Given the description of an element on the screen output the (x, y) to click on. 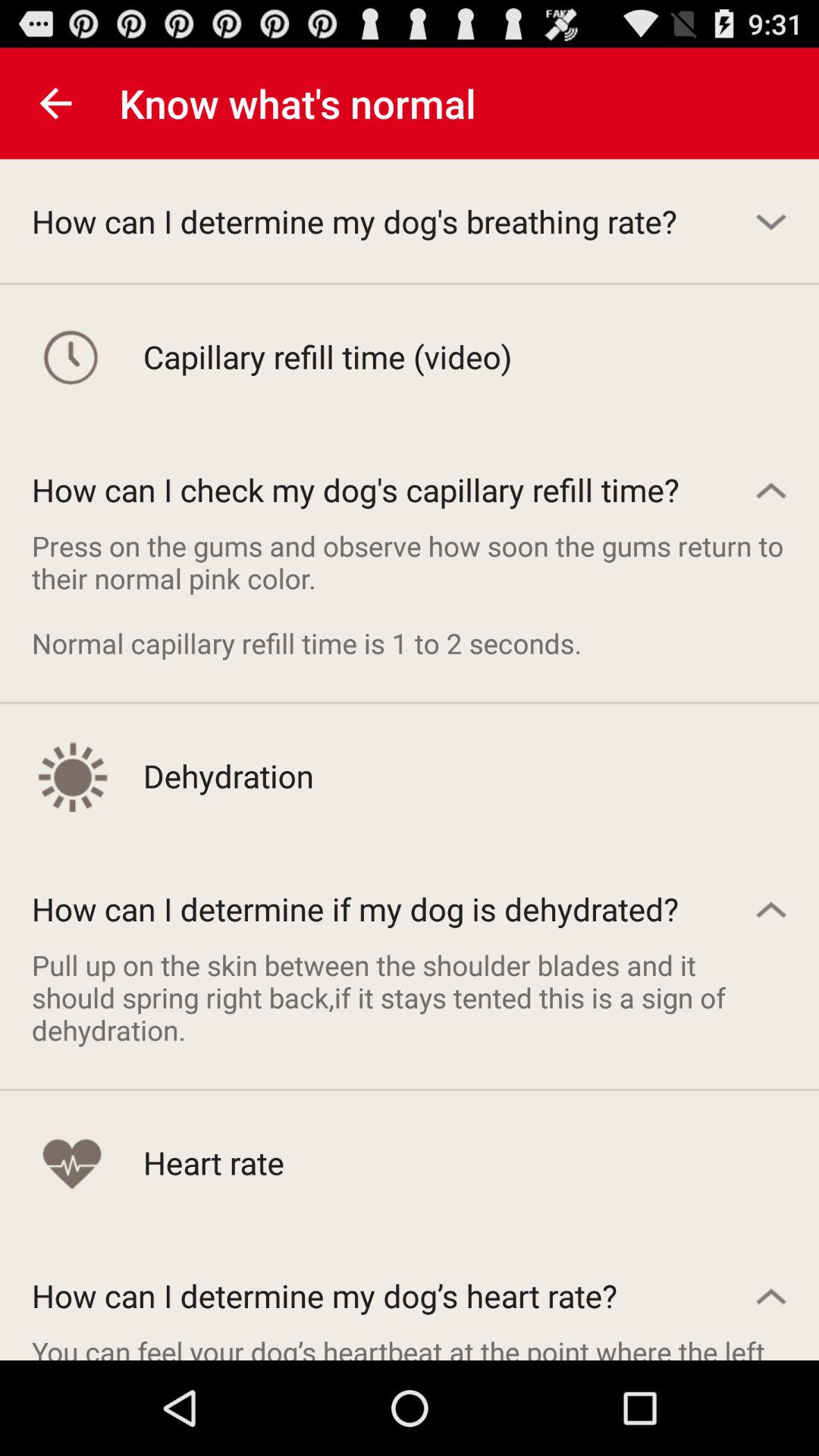
click on the heart symbol to the left of the text heart rate (71, 1162)
select the symbol which is to the immediate left of capillary refill time video (71, 356)
go to the icon beside dehydration (71, 775)
select the caret right symbol which is to the right side of how can i determine my dogs heart rate (771, 1295)
